Given the description of an element on the screen output the (x, y) to click on. 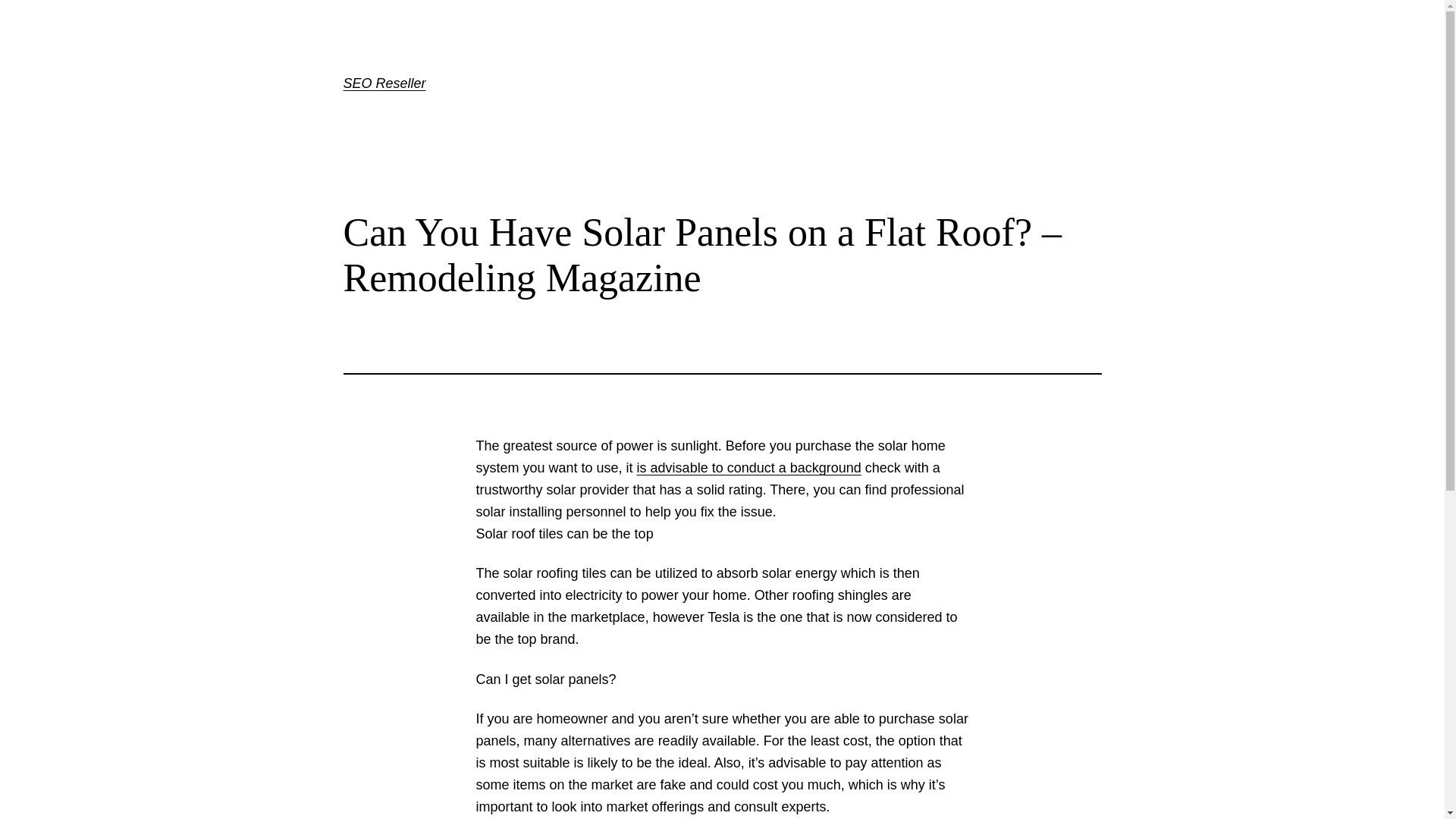
SEO Reseller Element type: text (383, 83)
is advisable to conduct a background Element type: text (749, 467)
